Given the description of an element on the screen output the (x, y) to click on. 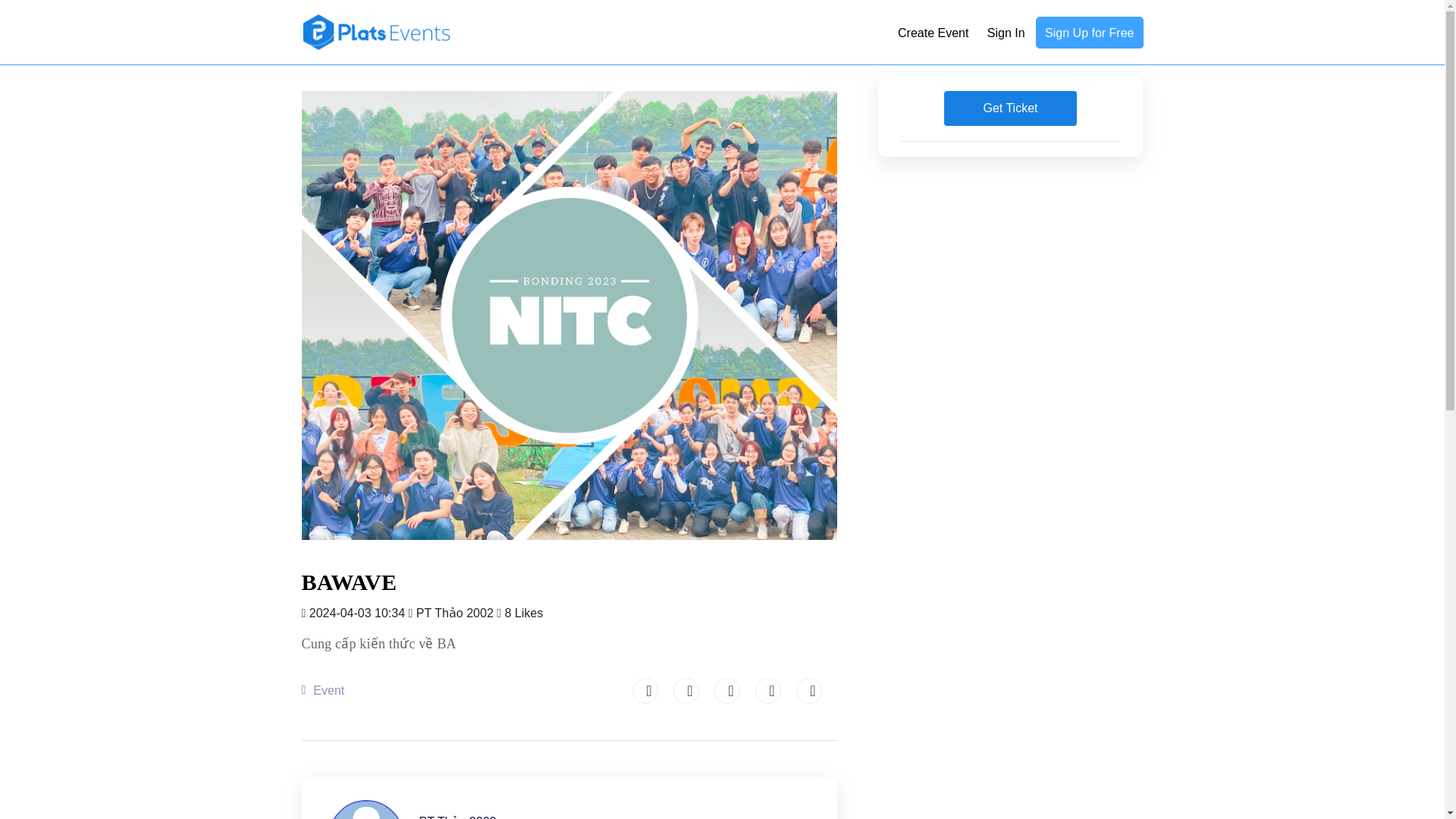
2024-04-03 10:34 (355, 612)
Sign In (1005, 33)
8 Likes (519, 612)
Create Event (932, 33)
Event (328, 689)
Get Ticket (1009, 108)
Sign Up for Free (1088, 31)
